Given the description of an element on the screen output the (x, y) to click on. 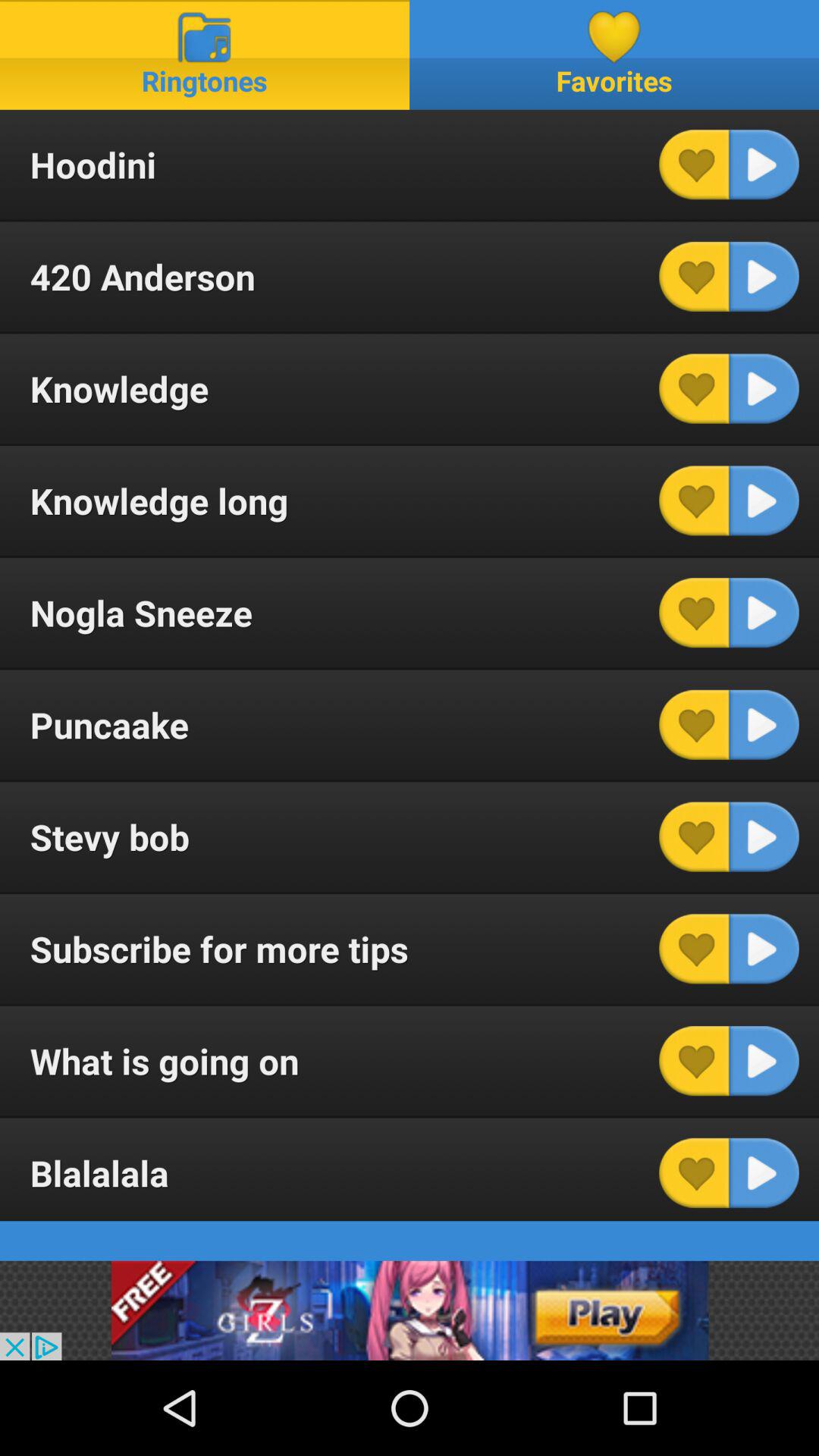
play ringtone (764, 164)
